Given the description of an element on the screen output the (x, y) to click on. 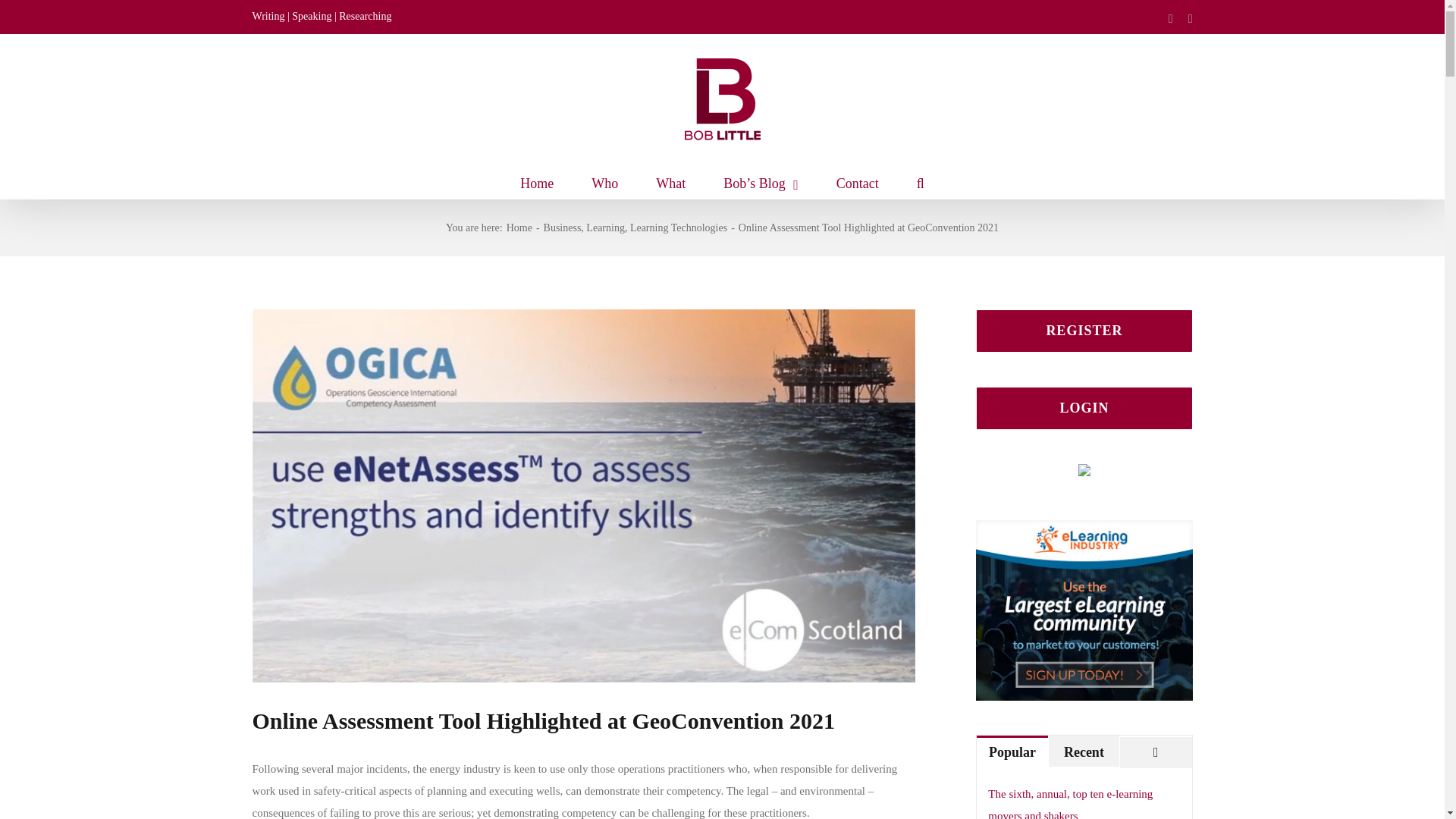
Researching (365, 16)
Writing (267, 16)
Home (519, 227)
Contact (857, 182)
Learning Technologies (678, 227)
Business (561, 227)
Speaking (311, 16)
Home (536, 182)
Learning (605, 227)
